Given the description of an element on the screen output the (x, y) to click on. 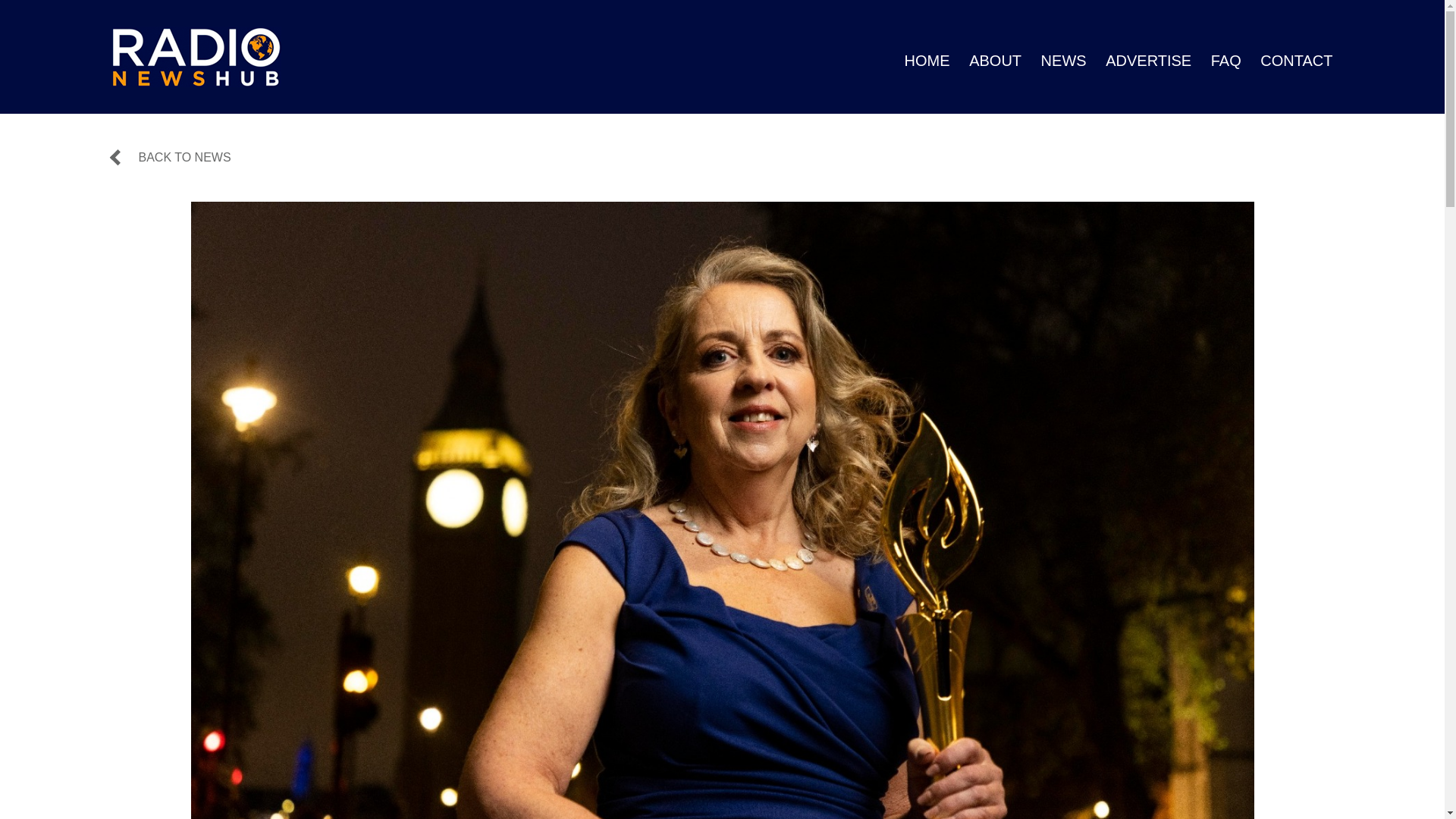
CONTACT (1296, 60)
NEWS (1063, 60)
BACK TO NEWS (171, 157)
FAQ (1226, 60)
HOME (927, 60)
ABOUT (995, 60)
ADVERTISE (1148, 60)
